Given the description of an element on the screen output the (x, y) to click on. 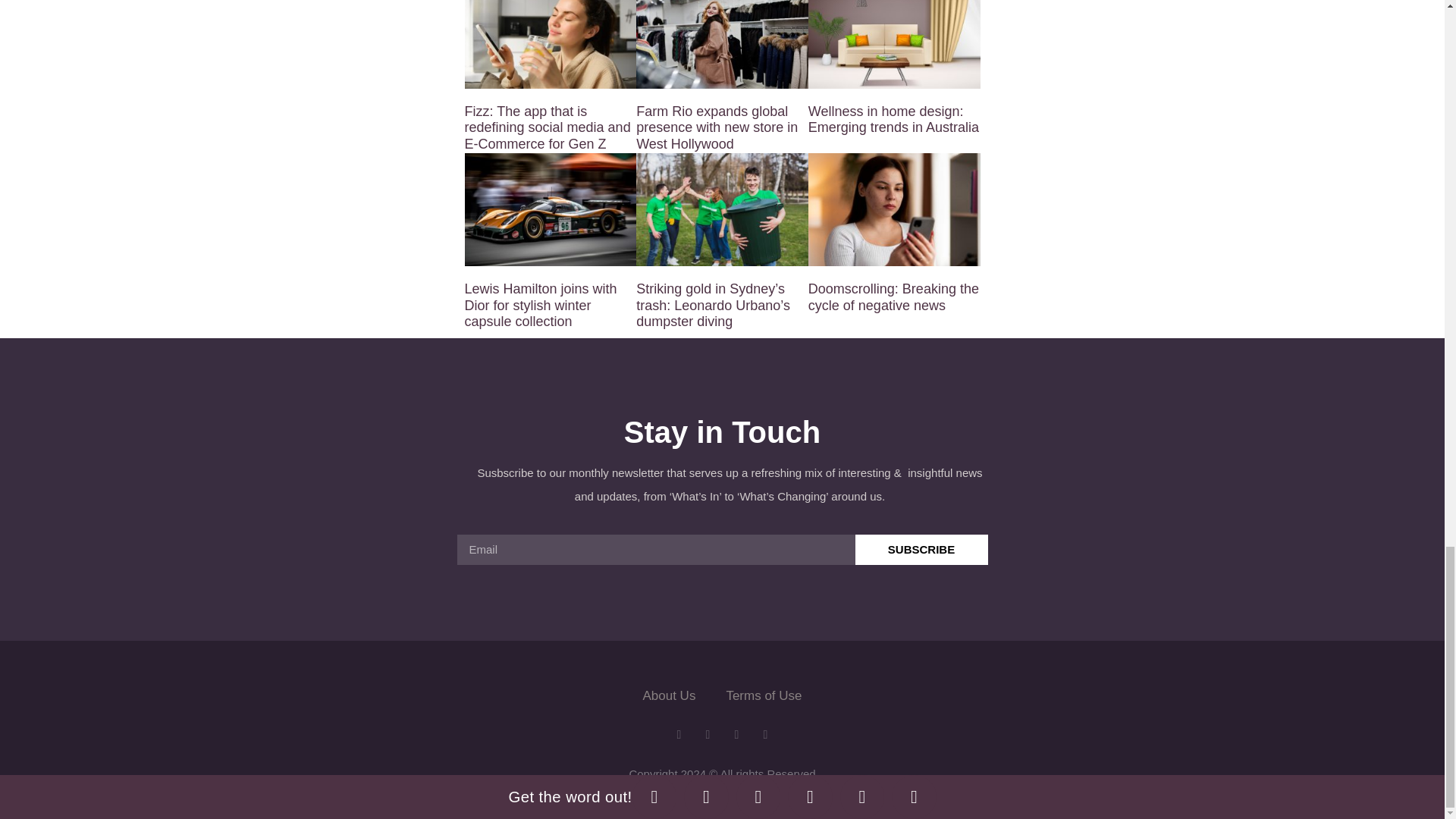
Doomscrolling: Breaking the cycle of negative news (893, 296)
About Us (668, 695)
Terms of Use (763, 695)
Wellness in home design: Emerging trends in Australia (893, 119)
SUBSCRIBE (922, 549)
